Given the description of an element on the screen output the (x, y) to click on. 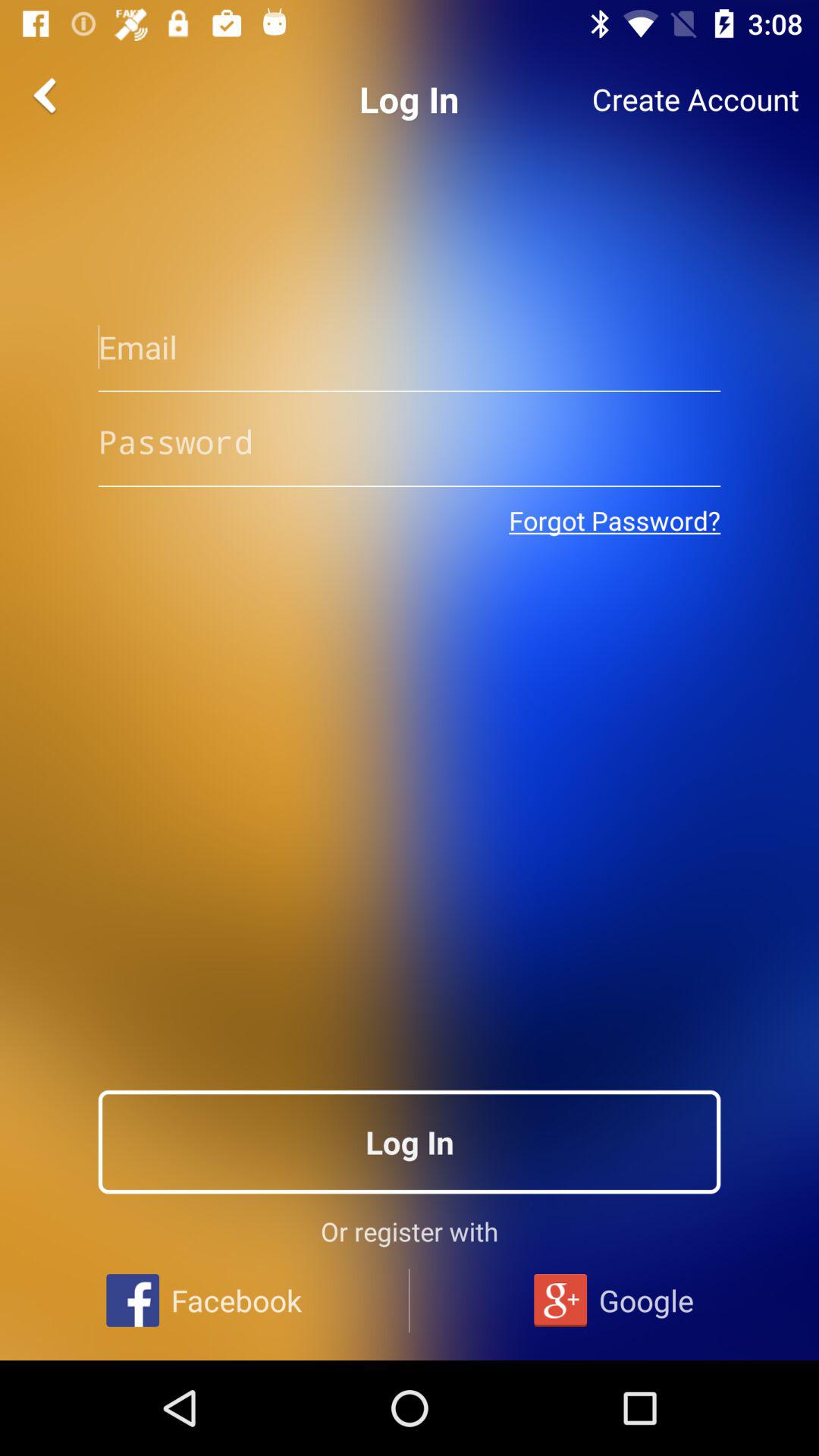
enter your password here (409, 441)
